Given the description of an element on the screen output the (x, y) to click on. 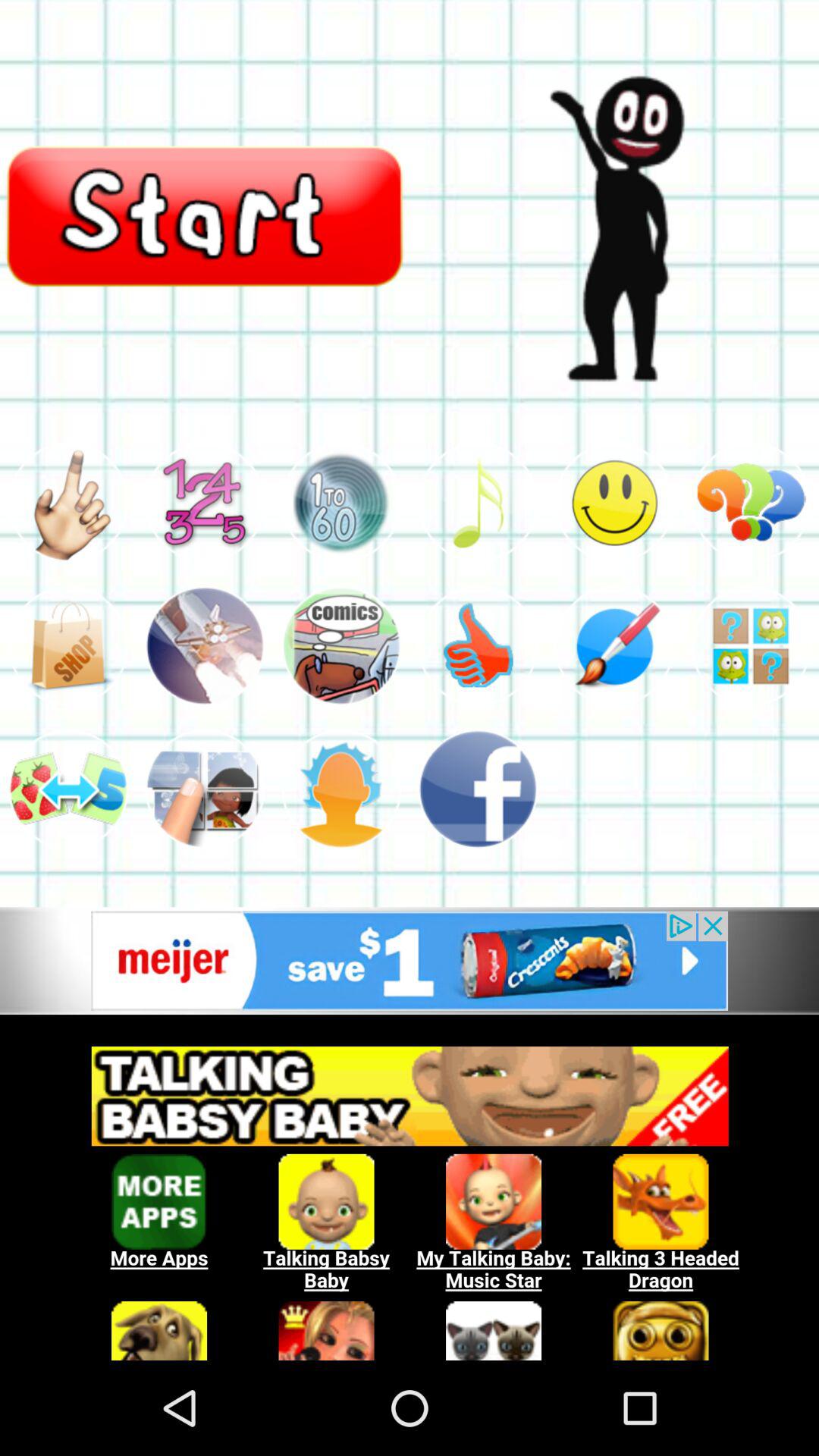
open facebook (477, 789)
